Given the description of an element on the screen output the (x, y) to click on. 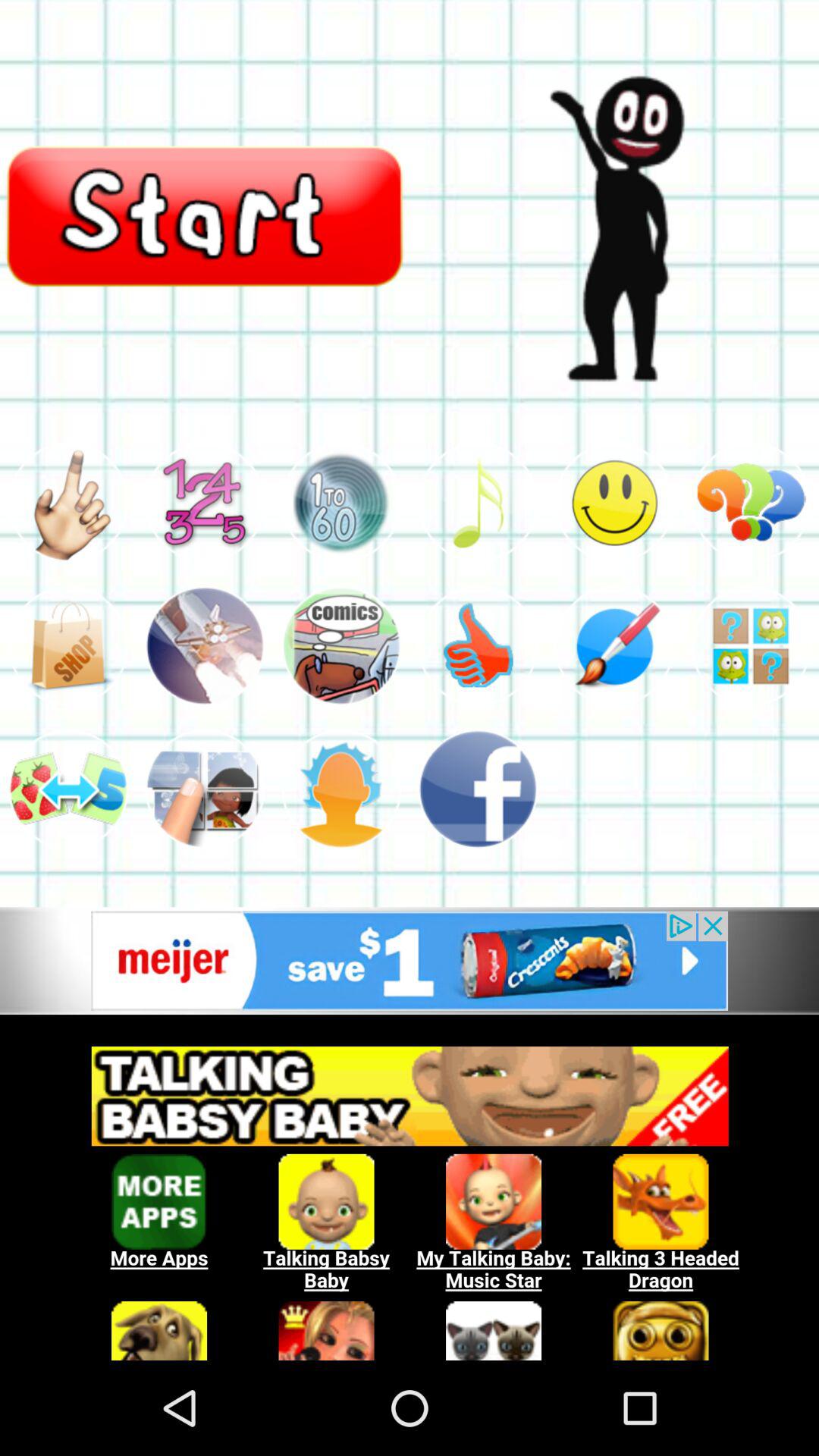
open facebook (477, 789)
